Given the description of an element on the screen output the (x, y) to click on. 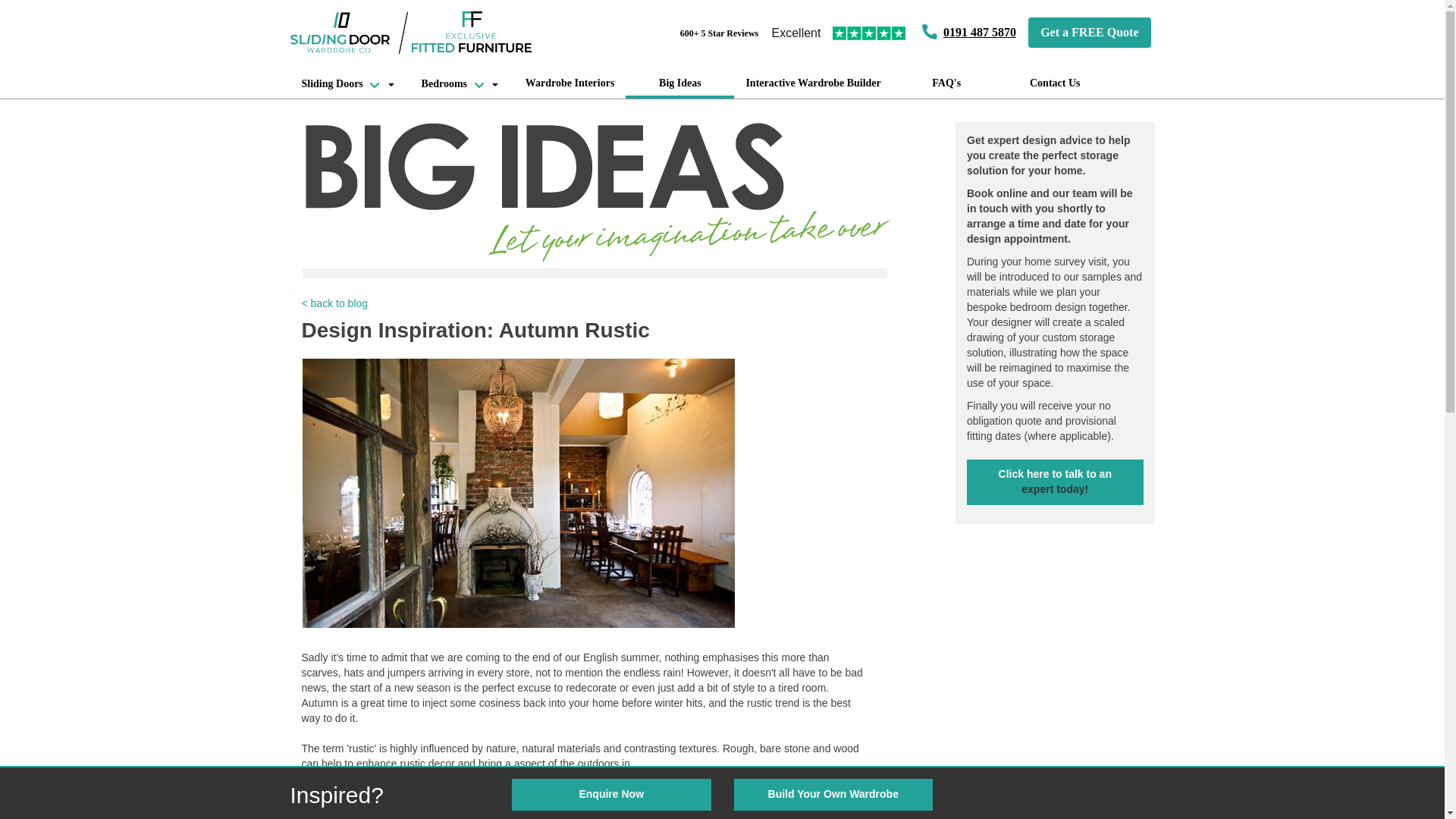
Contact Us (1055, 87)
Get a FREE Quote (1088, 32)
Big Ideas (679, 87)
Sliding Doors (1054, 482)
Wardrobe Interiors (346, 87)
Bedrooms (569, 87)
Interactive Wardrobe Builder (459, 87)
0191 487 5870 (812, 87)
FAQ's (979, 31)
